Given the description of an element on the screen output the (x, y) to click on. 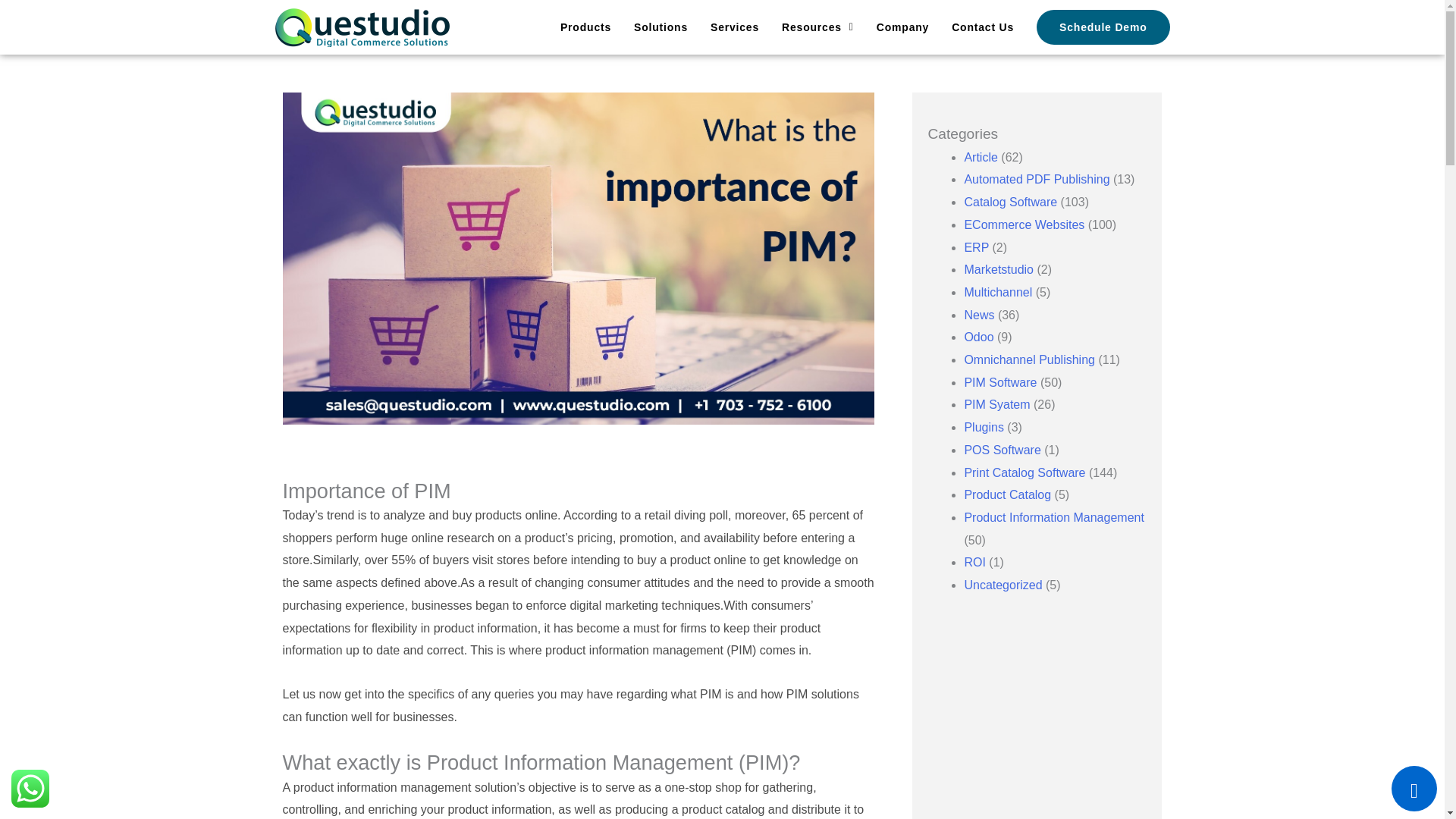
Company (902, 27)
Schedule Demo (1102, 27)
Solutions (660, 27)
Services (734, 27)
Contact Us (982, 27)
Products (585, 27)
Resources (817, 27)
